Given the description of an element on the screen output the (x, y) to click on. 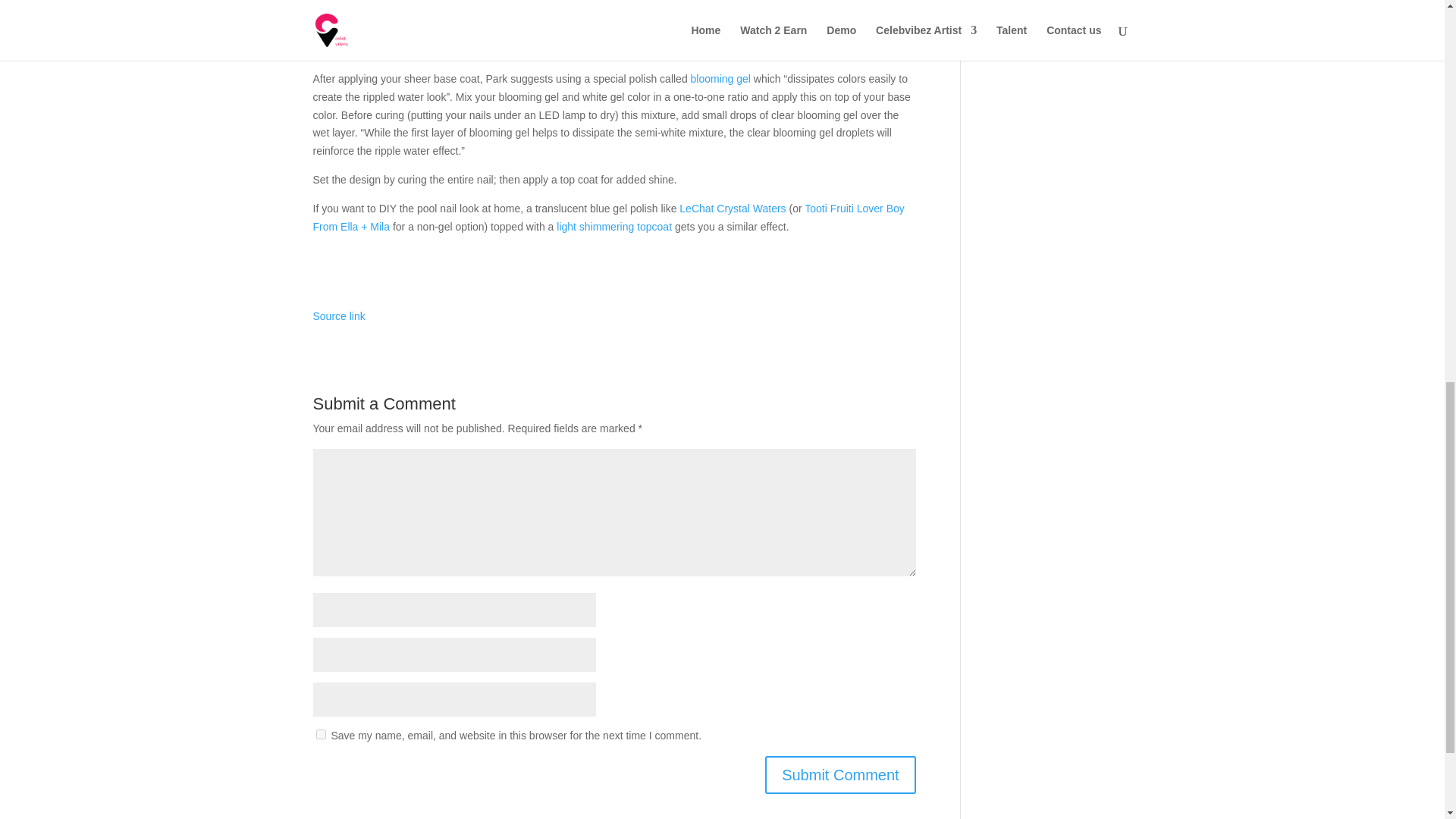
blooming gel (720, 78)
Source link (339, 316)
Cirque Colors Acqua Jelly lacquer (799, 31)
yes (319, 734)
light shimmering topcoat (613, 225)
Submit Comment (840, 774)
Submit Comment (840, 774)
LeChat Crystal Waters (732, 208)
